Given the description of an element on the screen output the (x, y) to click on. 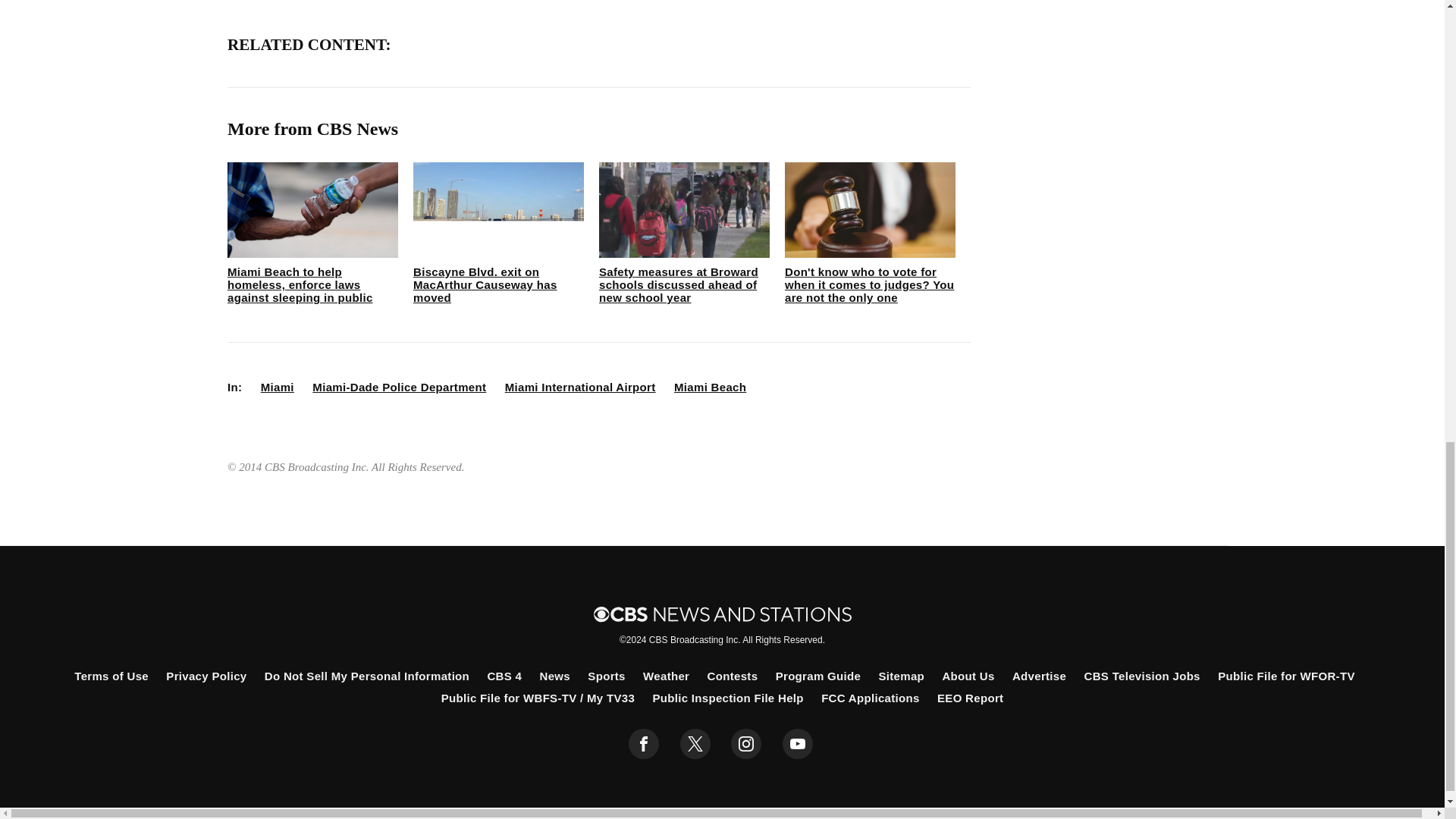
youtube (797, 743)
facebook (643, 743)
instagram (745, 743)
twitter (694, 743)
